Given the description of an element on the screen output the (x, y) to click on. 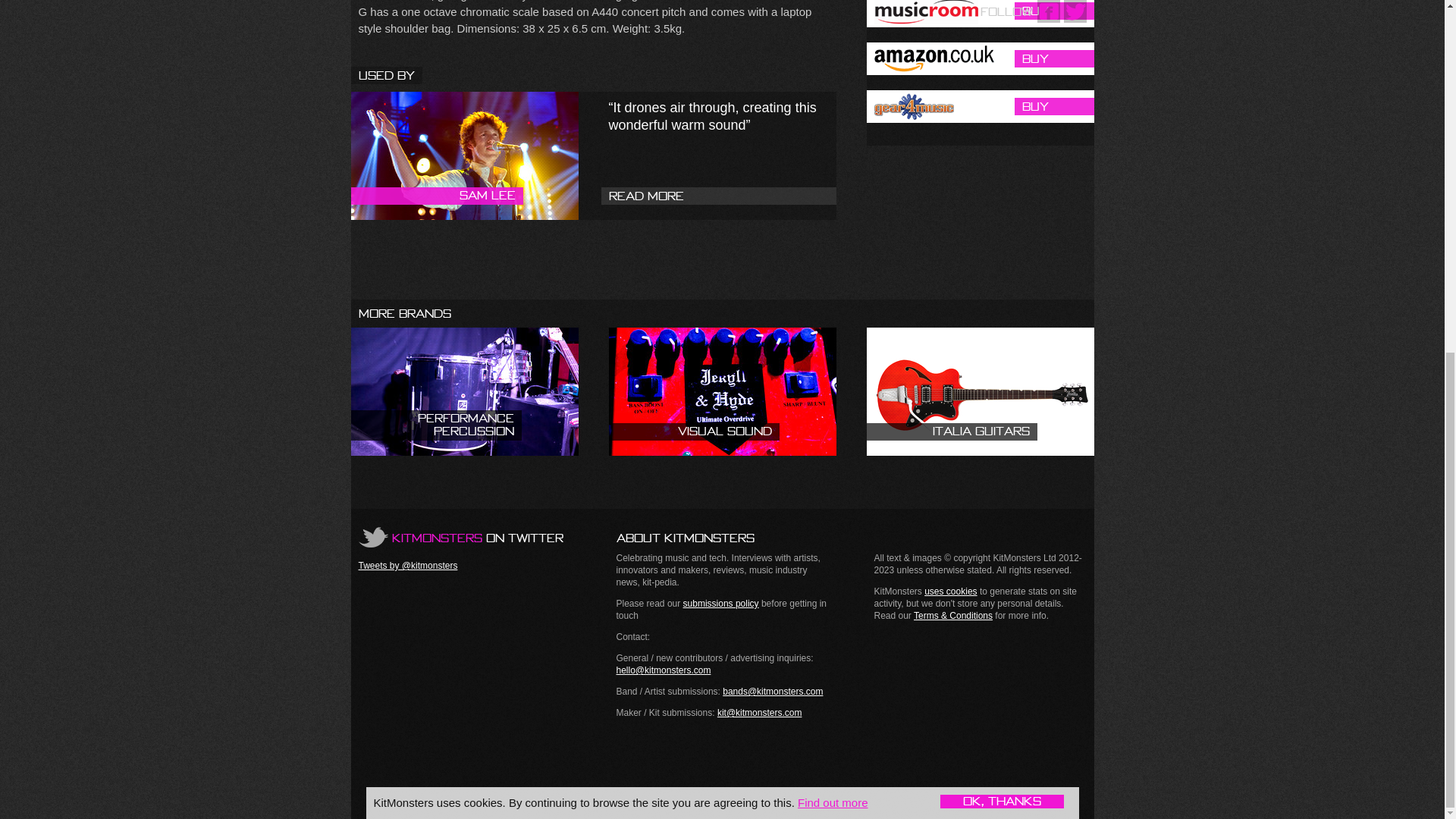
KitMonsters on Twitter (460, 537)
Buy (979, 13)
Italia Guitars (979, 391)
Performance Percussion (464, 391)
uses cookies (950, 591)
Find out more (832, 187)
Buy (979, 106)
OK, Thanks (1002, 187)
Buy this from gear4music.com (979, 106)
submissions policy (720, 603)
Buy (979, 58)
Visual Sound (721, 391)
Buy this from amazon.co.uk (979, 58)
Buy this from musicroom.com (979, 13)
